Given the description of an element on the screen output the (x, y) to click on. 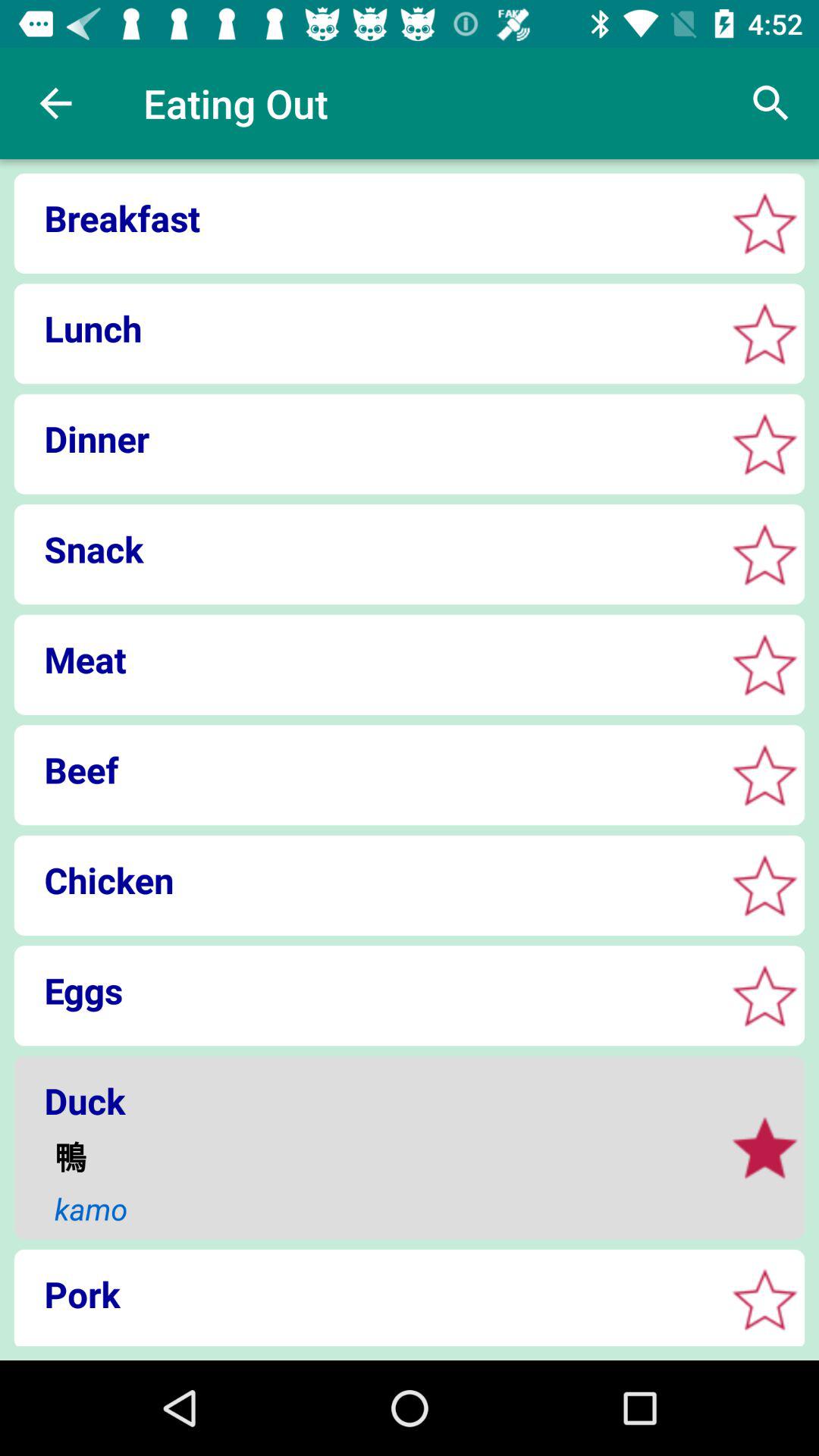
click to favourite option (764, 1147)
